Given the description of an element on the screen output the (x, y) to click on. 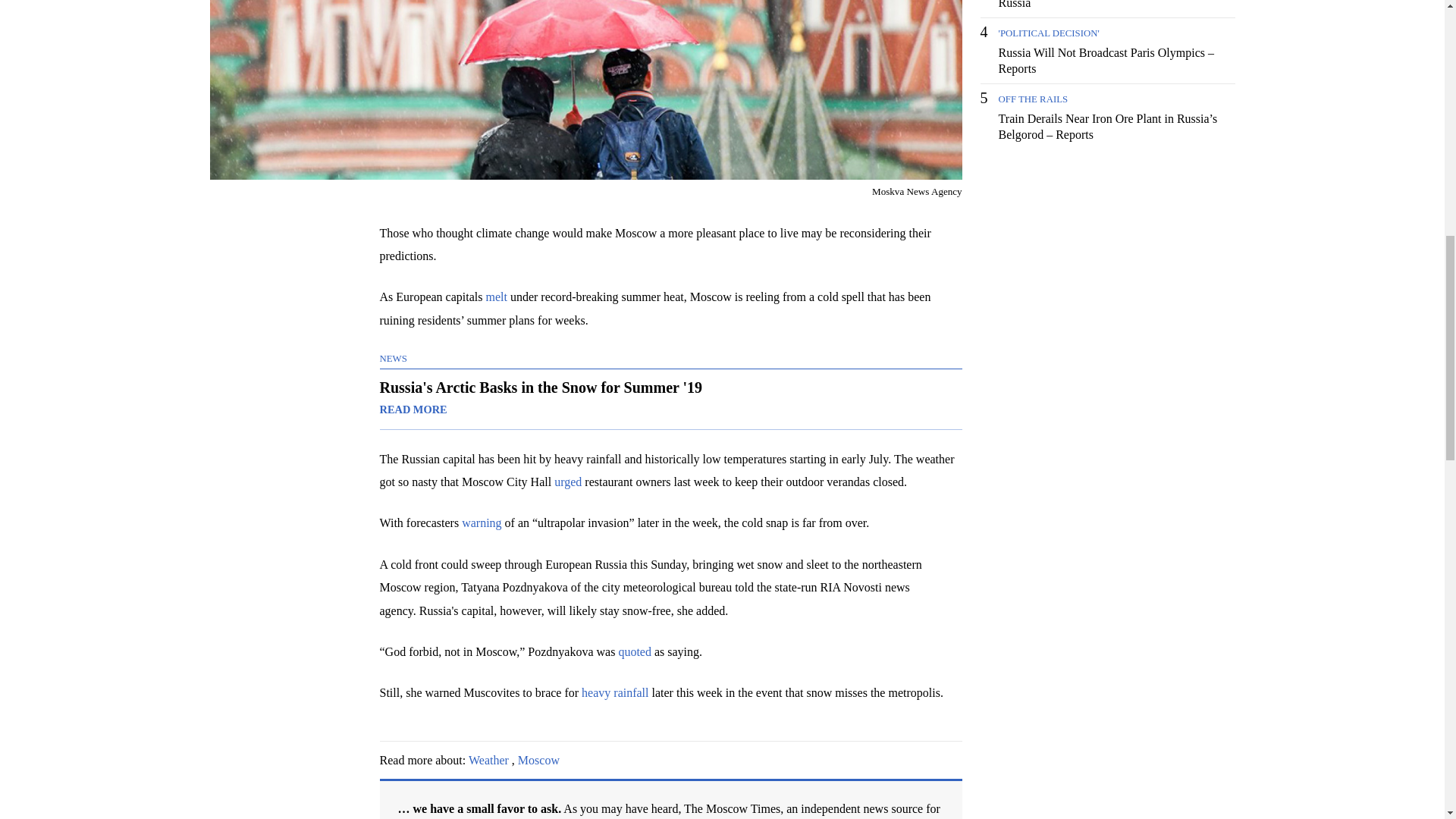
Weather (488, 759)
Moscow (538, 759)
Russia's Arctic Basks in the Snow for Summer '19 (669, 399)
melt (495, 296)
